Given the description of an element on the screen output the (x, y) to click on. 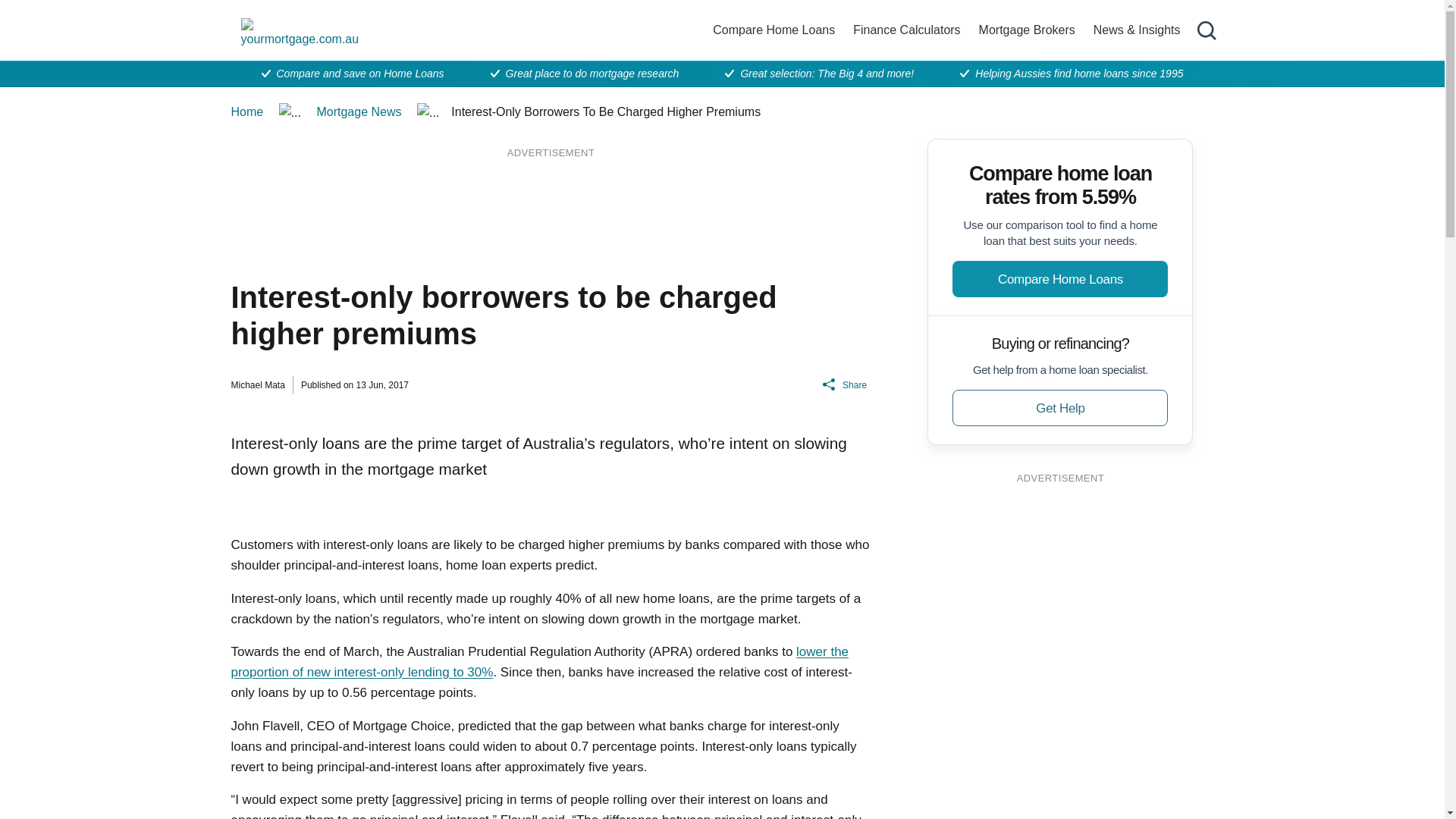
Posts by Michael Mata (256, 385)
